Given the description of an element on the screen output the (x, y) to click on. 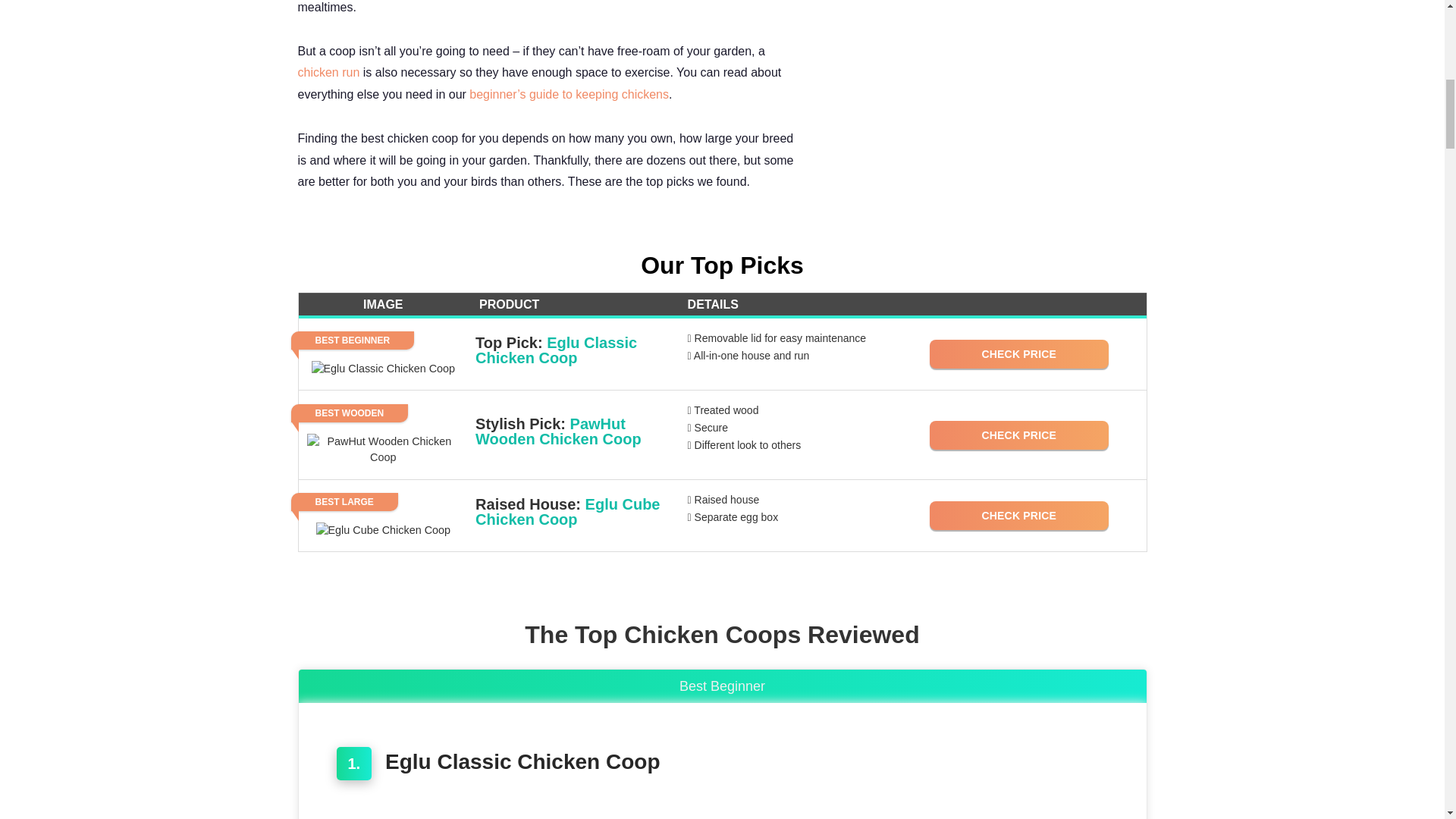
chicken run (328, 72)
CHECK PRICE (1019, 434)
Raised House: Eglu Cube Chicken Coop (574, 511)
Eglu Classic Chicken Coop (523, 761)
CHECK PRICE (1019, 353)
Top Pick: Eglu Classic Chicken Coop (574, 349)
Stylish Pick: PawHut Wooden Chicken Coop (574, 431)
CHECK PRICE (1019, 515)
